Given the description of an element on the screen output the (x, y) to click on. 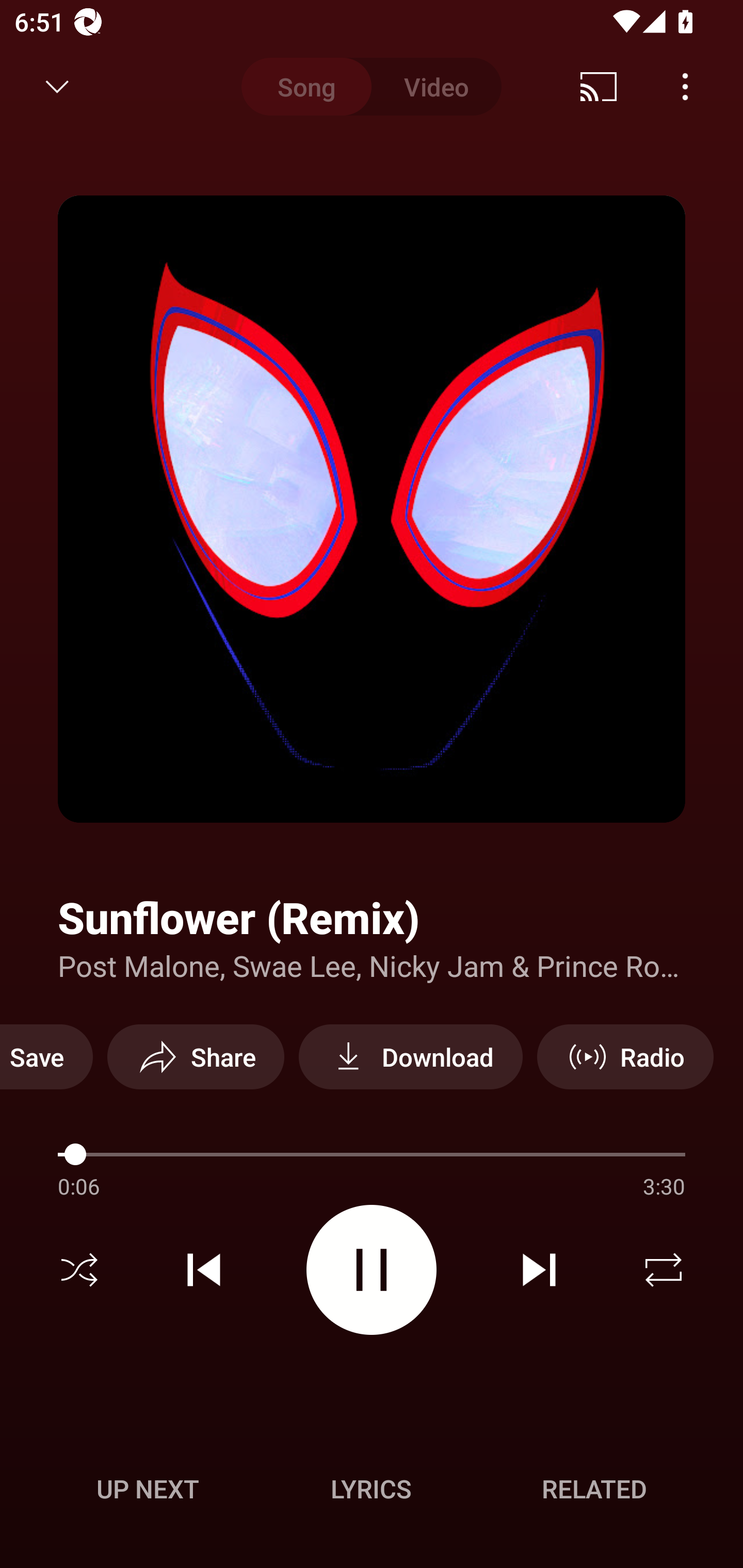
Minimize (57, 86)
Cast. Disconnected (598, 86)
Menu (684, 86)
Post Malone, Swae Lee, Nicky Jam & Prince Royce (371, 964)
Save Save to playlist (46, 1056)
Share (195, 1056)
Download (410, 1056)
Radio (625, 1056)
Pause video (371, 1269)
Shuffle off (79, 1269)
Previous track (203, 1269)
Next track (538, 1269)
Repeat off (663, 1269)
Up next UP NEXT Lyrics LYRICS Related RELATED (371, 1491)
Lyrics LYRICS (370, 1488)
Related RELATED (594, 1488)
